Given the description of an element on the screen output the (x, y) to click on. 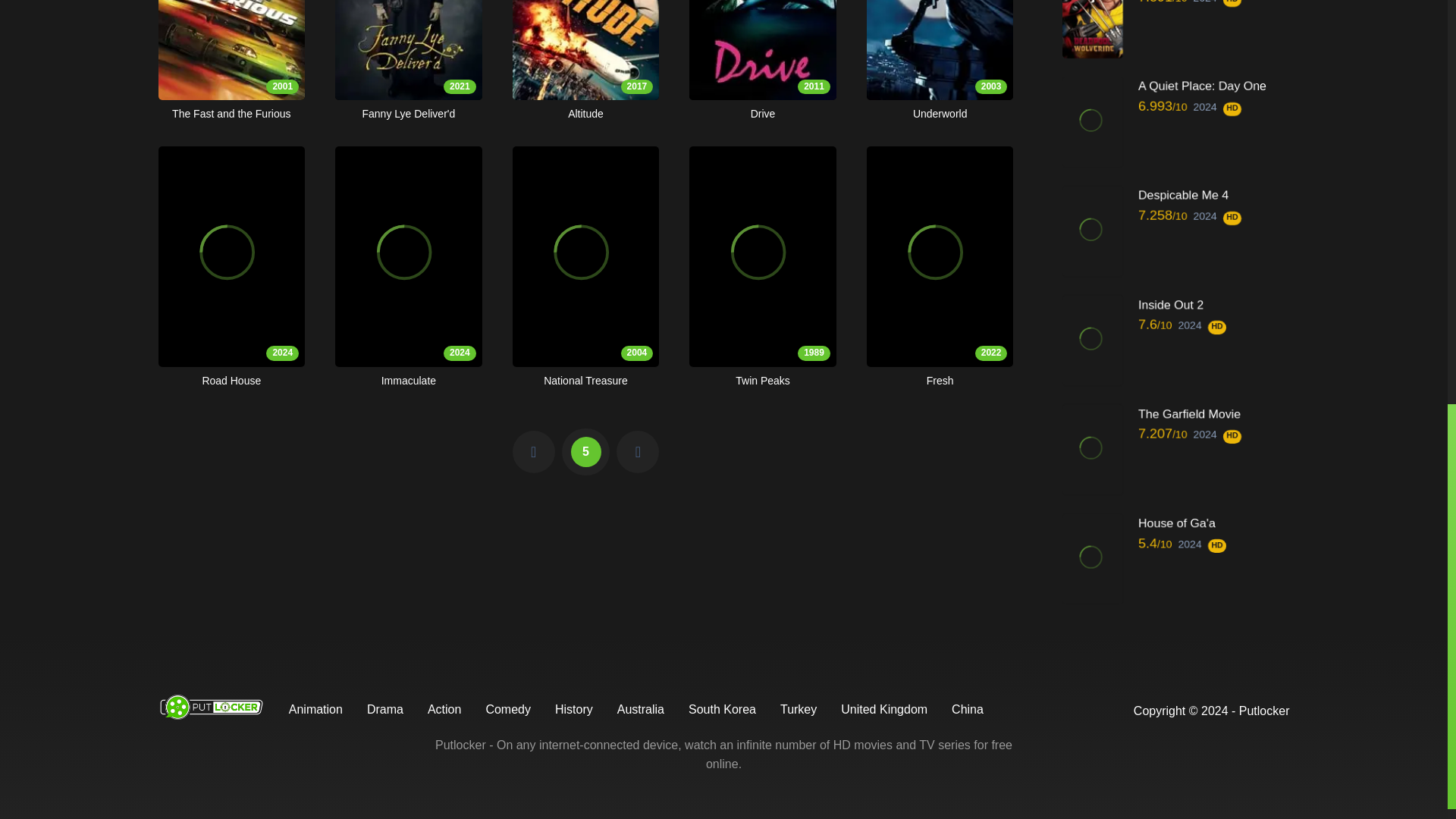
5 (407, 61)
